Given the description of an element on the screen output the (x, y) to click on. 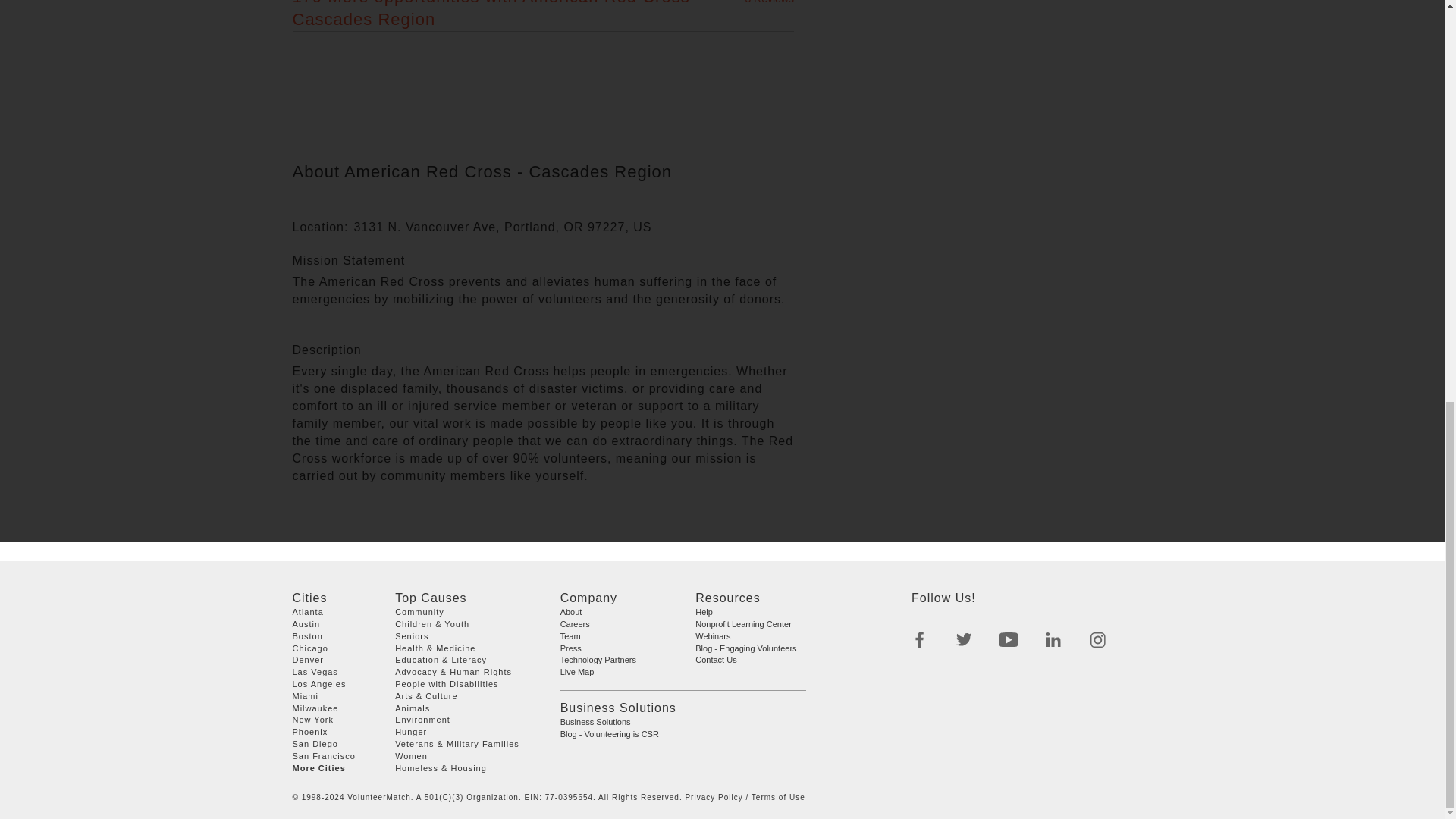
Atlanta (307, 611)
3 Reviews (768, 2)
Austin (306, 623)
Opens a widget where you can find more information (57, 11)
Boston (307, 634)
